Given the description of an element on the screen output the (x, y) to click on. 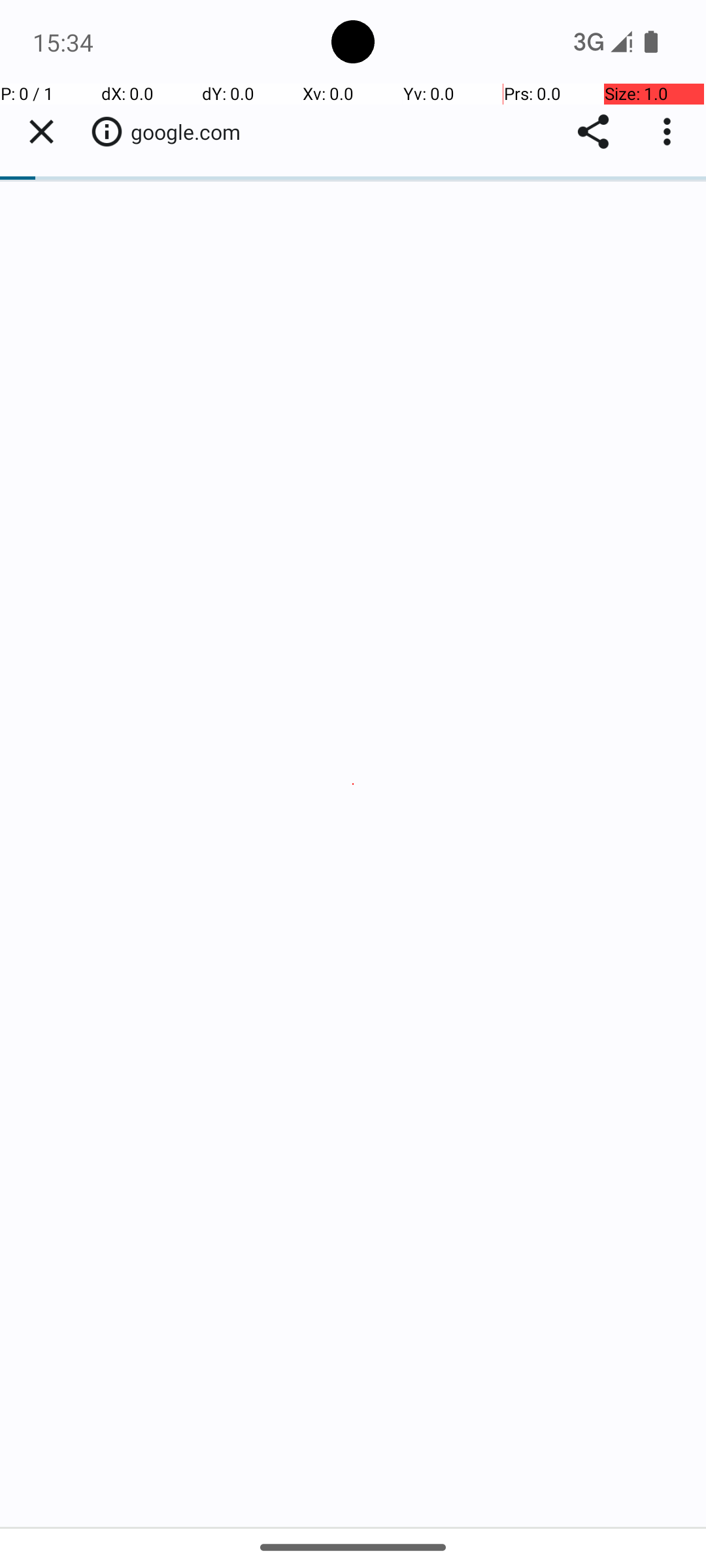
Web View Element type: android.widget.FrameLayout (353, 804)
Close tab Element type: android.widget.ImageButton (41, 131)
Your connection to this site is not secure Element type: android.widget.ImageButton (106, 131)
Share Element type: android.widget.ImageButton (593, 131)
google.com Element type: android.widget.TextView (192, 131)
